Given the description of an element on the screen output the (x, y) to click on. 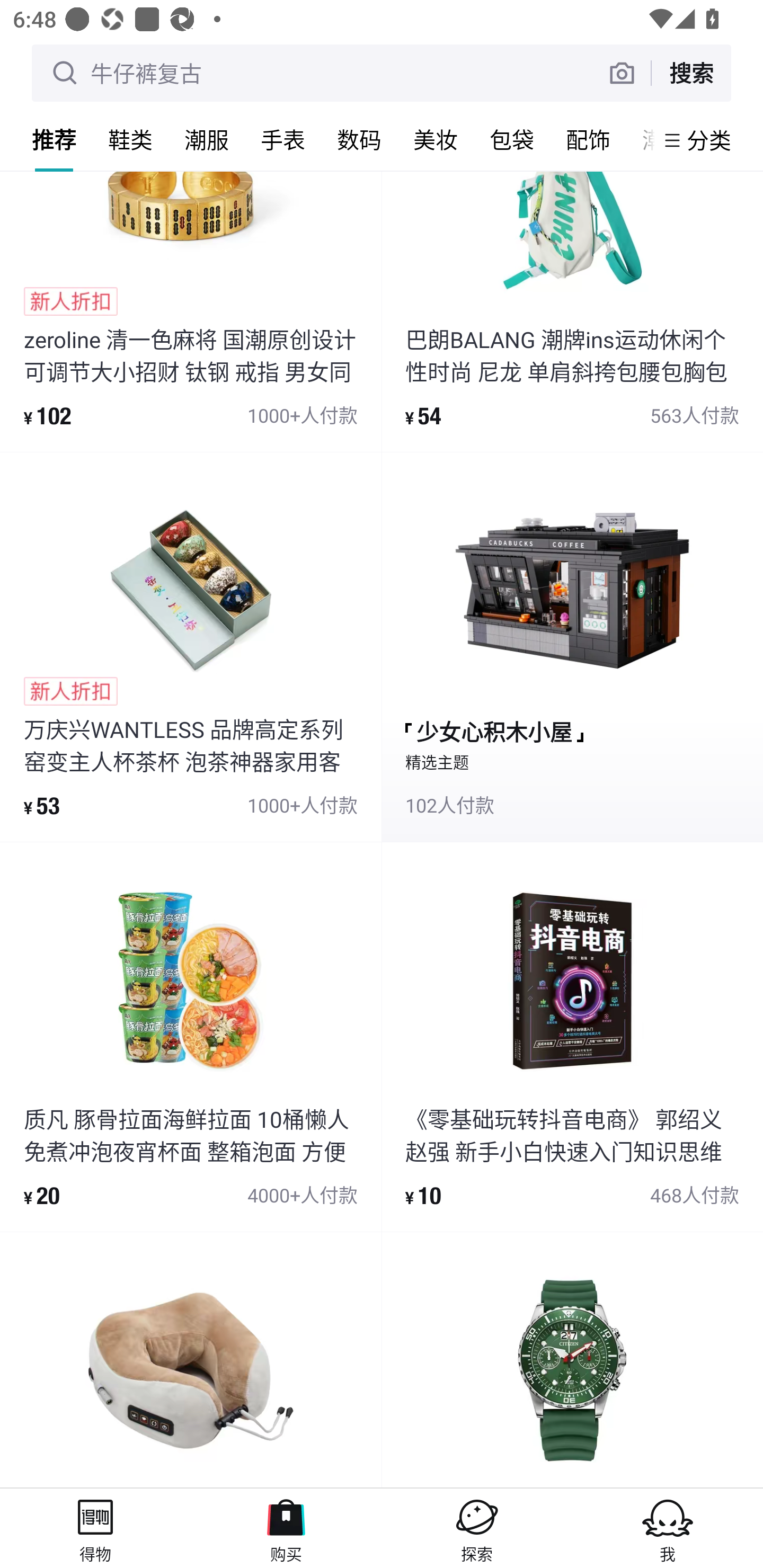
搜索 (690, 72)
推荐 (54, 139)
鞋类 (130, 139)
潮服 (206, 139)
手表 (282, 139)
数码 (359, 139)
美妆 (435, 139)
包袋 (511, 139)
配饰 (588, 139)
分类 (708, 139)
少女心积木小屋 精选主题 102人付款 (572, 647)
product_item (190, 1360)
product_item (572, 1360)
得物 (95, 1528)
购买 (285, 1528)
探索 (476, 1528)
我 (667, 1528)
